Given the description of an element on the screen output the (x, y) to click on. 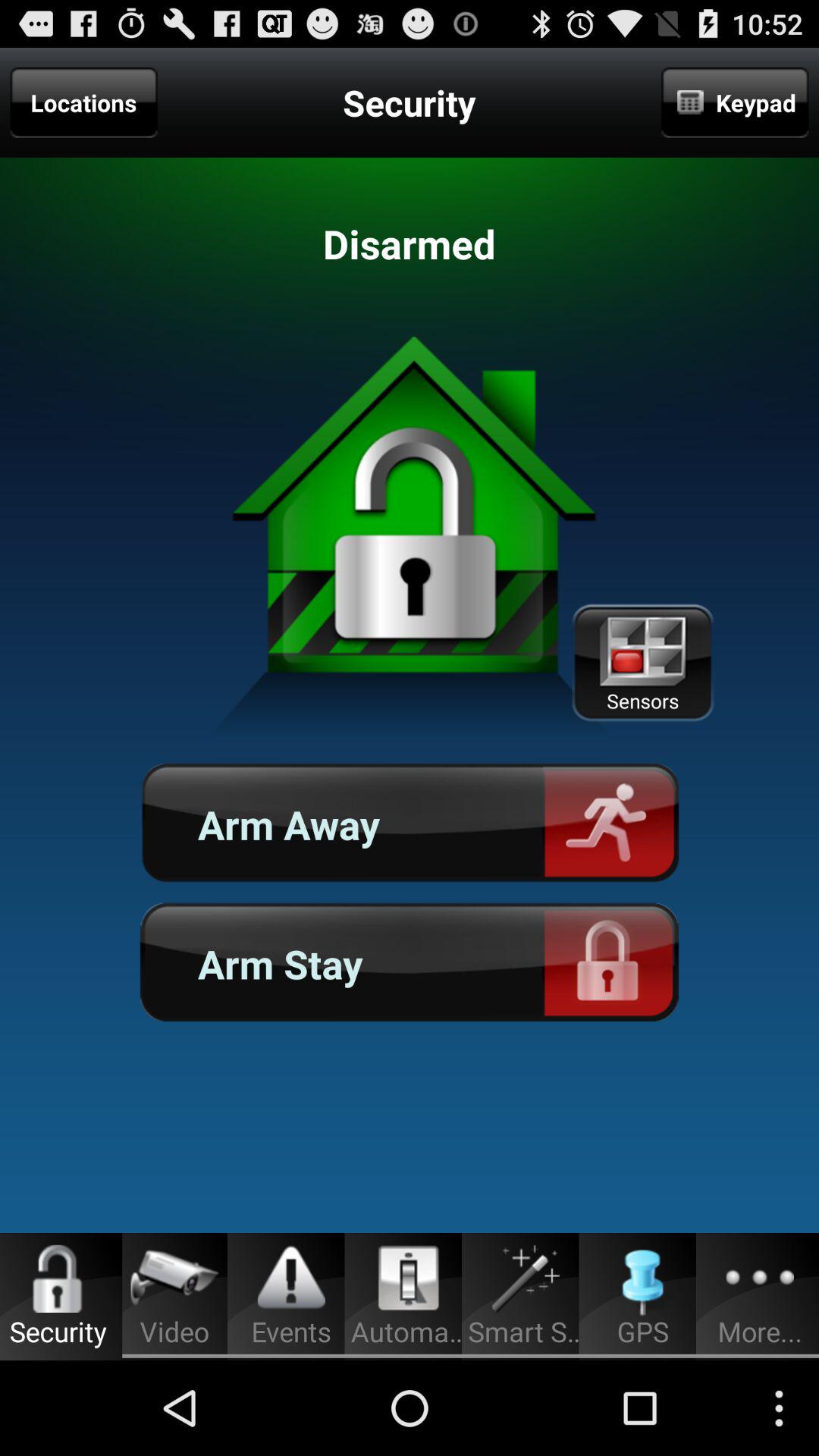
jump to the sensors icon (642, 662)
